Given the description of an element on the screen output the (x, y) to click on. 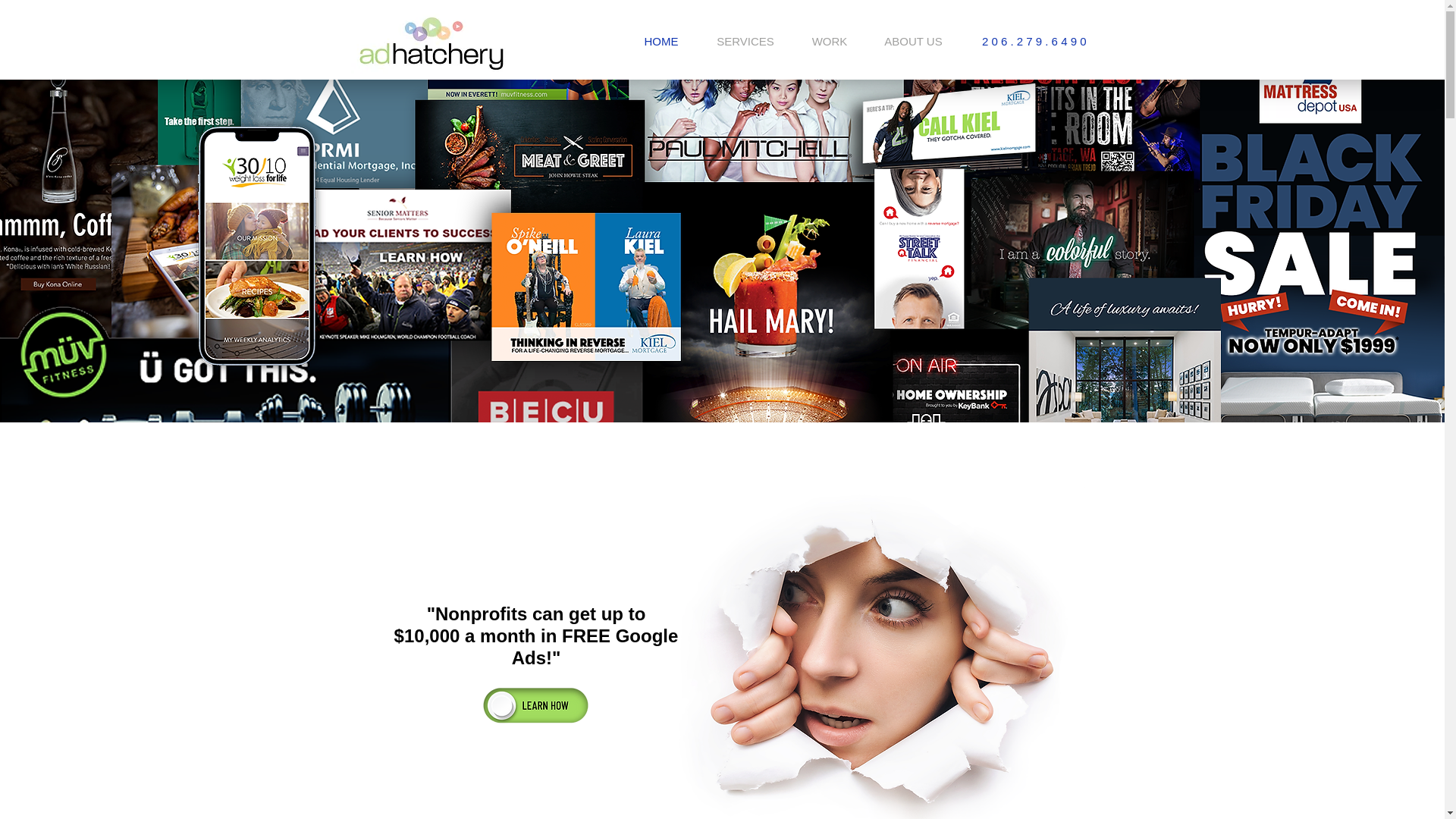
HOME (661, 41)
ABOUT US (912, 41)
WORK (829, 41)
Call 206-279-6490 (535, 705)
2 0 6 . 2 7 9 . 6 4 9 0 (1033, 41)
SERVICES (744, 41)
